Given the description of an element on the screen output the (x, y) to click on. 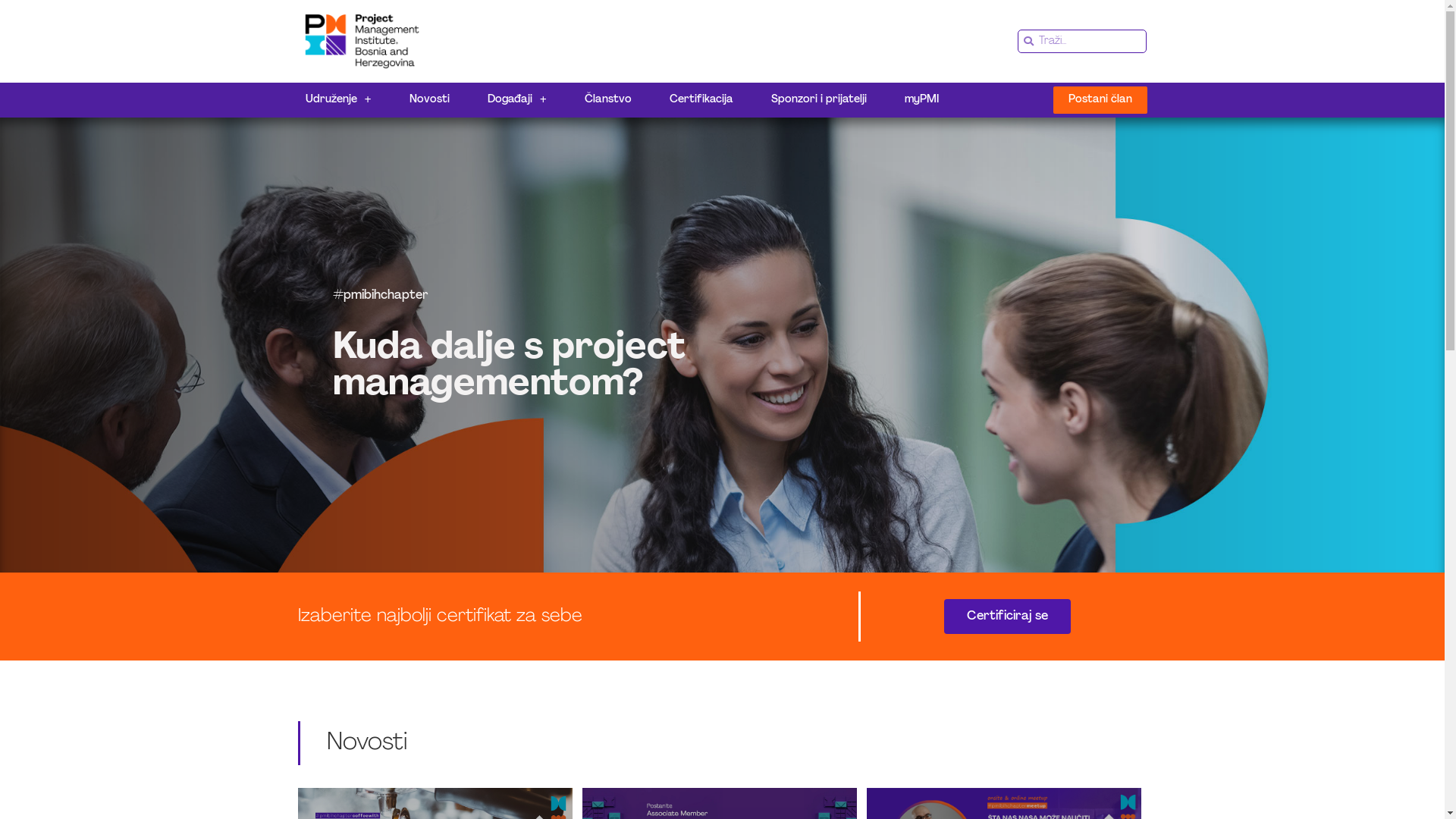
Certifikacija Element type: text (701, 99)
Novosti Element type: text (429, 99)
Certificiraj se Element type: text (1007, 616)
Search Element type: hover (1089, 41)
myPMI Element type: text (921, 99)
Sponzori i prijatelji Element type: text (818, 99)
